Given the description of an element on the screen output the (x, y) to click on. 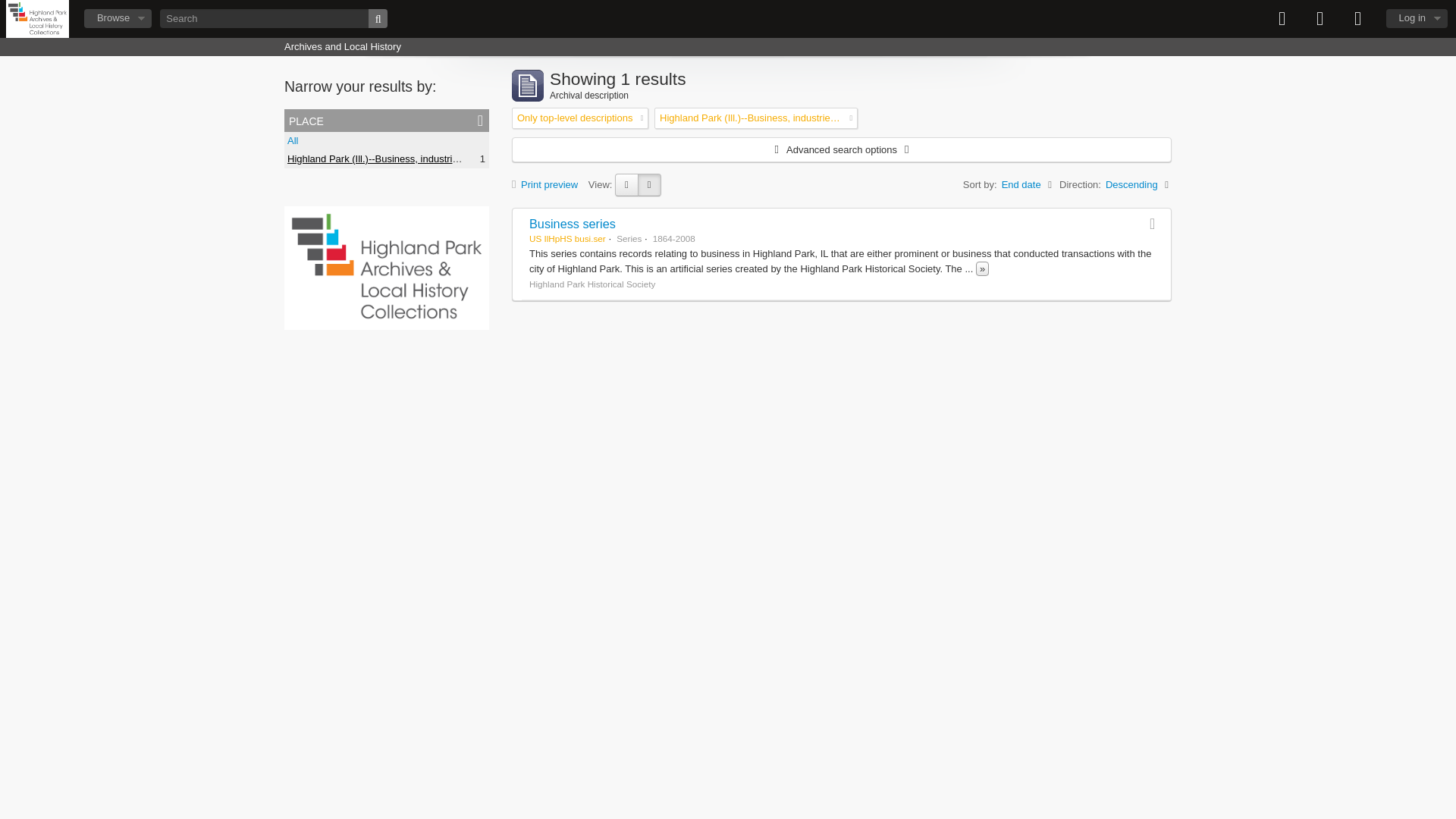
place (386, 119)
All (292, 140)
Print preview (548, 184)
Clipboard (1282, 18)
Language (1320, 18)
Advanced search options (841, 149)
Browse (117, 18)
Log in (1416, 18)
Quick links (1358, 18)
